Given the description of an element on the screen output the (x, y) to click on. 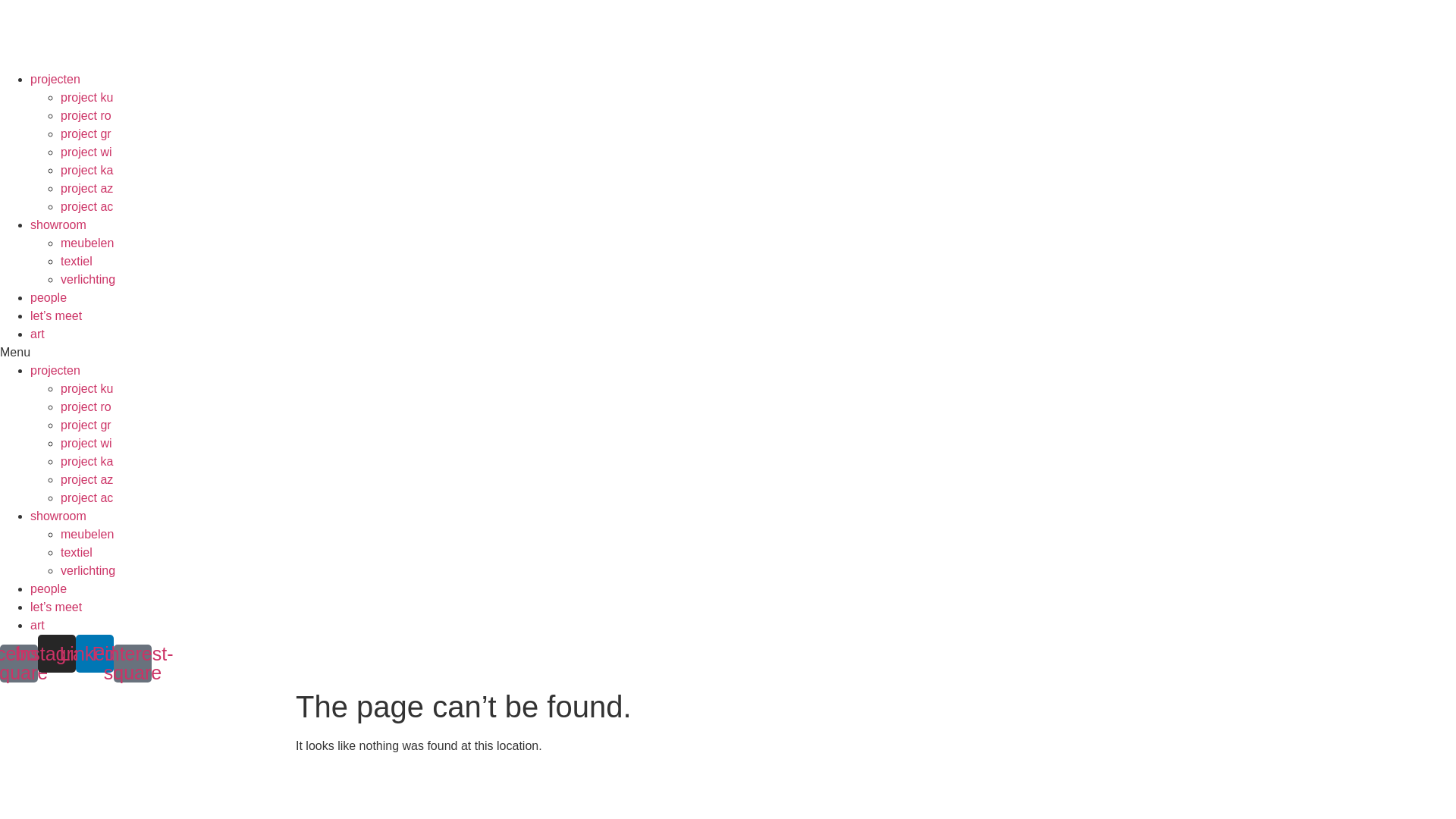
showroom Element type: text (58, 515)
projecten Element type: text (55, 370)
project gr Element type: text (85, 424)
textiel Element type: text (76, 552)
project ac Element type: text (86, 497)
Pinterest-square Element type: text (132, 663)
project gr Element type: text (85, 133)
project az Element type: text (86, 479)
art Element type: text (37, 624)
project wi Element type: text (86, 151)
Instagram Element type: text (56, 653)
people Element type: text (48, 297)
project ka Element type: text (86, 461)
project ka Element type: text (86, 169)
project az Element type: text (86, 188)
art Element type: text (37, 333)
project ro Element type: text (85, 115)
project wi Element type: text (86, 442)
meubelen Element type: text (86, 533)
Linkedin Element type: text (94, 653)
meubelen Element type: text (86, 242)
project ku Element type: text (86, 388)
project ku Element type: text (86, 97)
verlichting Element type: text (87, 570)
verlichting Element type: text (87, 279)
project ac Element type: text (86, 206)
Facebook-square Element type: text (18, 663)
projecten Element type: text (55, 78)
people Element type: text (48, 588)
textiel Element type: text (76, 260)
showroom Element type: text (58, 224)
project ro Element type: text (85, 406)
